Given the description of an element on the screen output the (x, y) to click on. 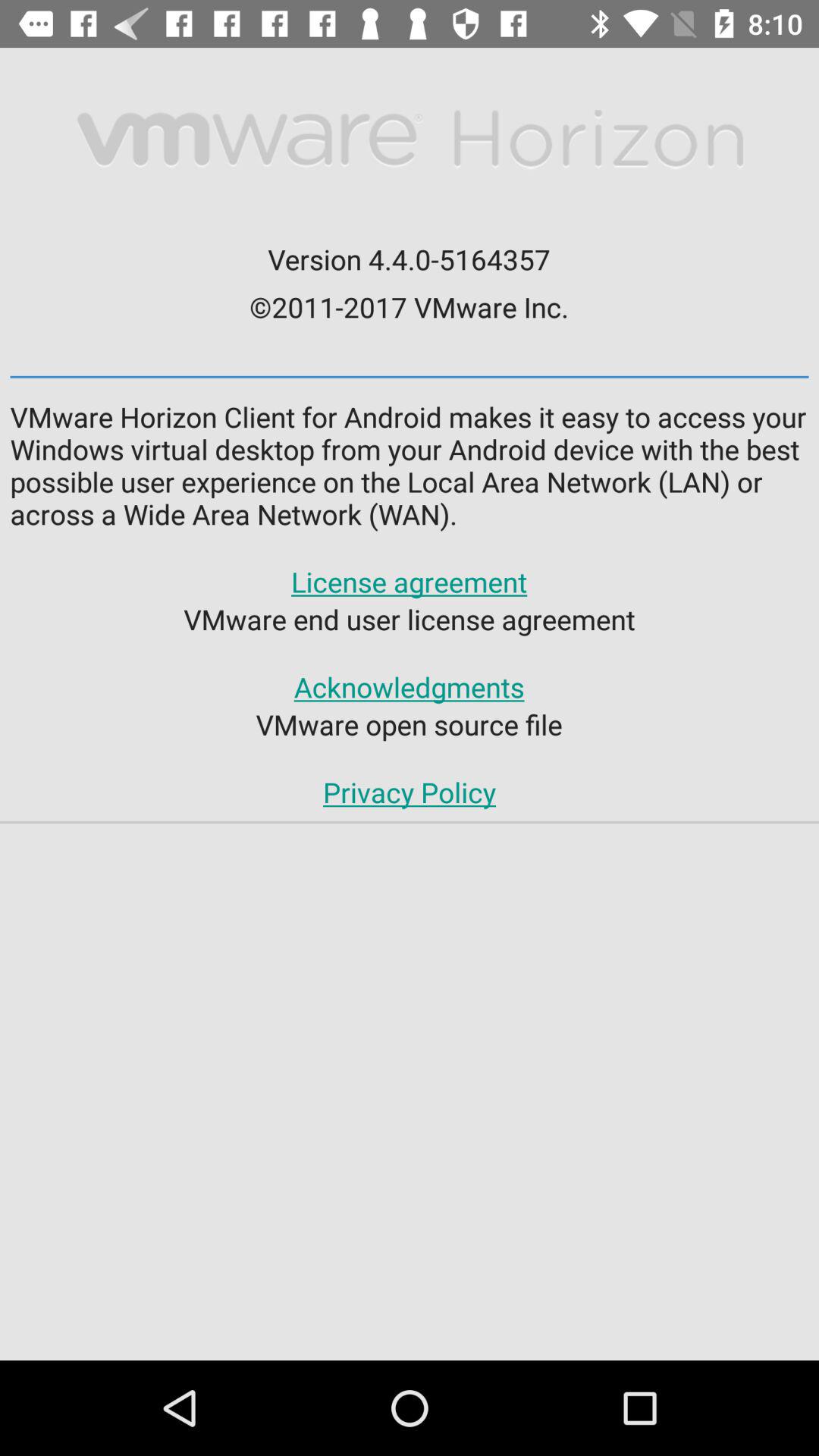
press version 4 4 item (408, 259)
